Given the description of an element on the screen output the (x, y) to click on. 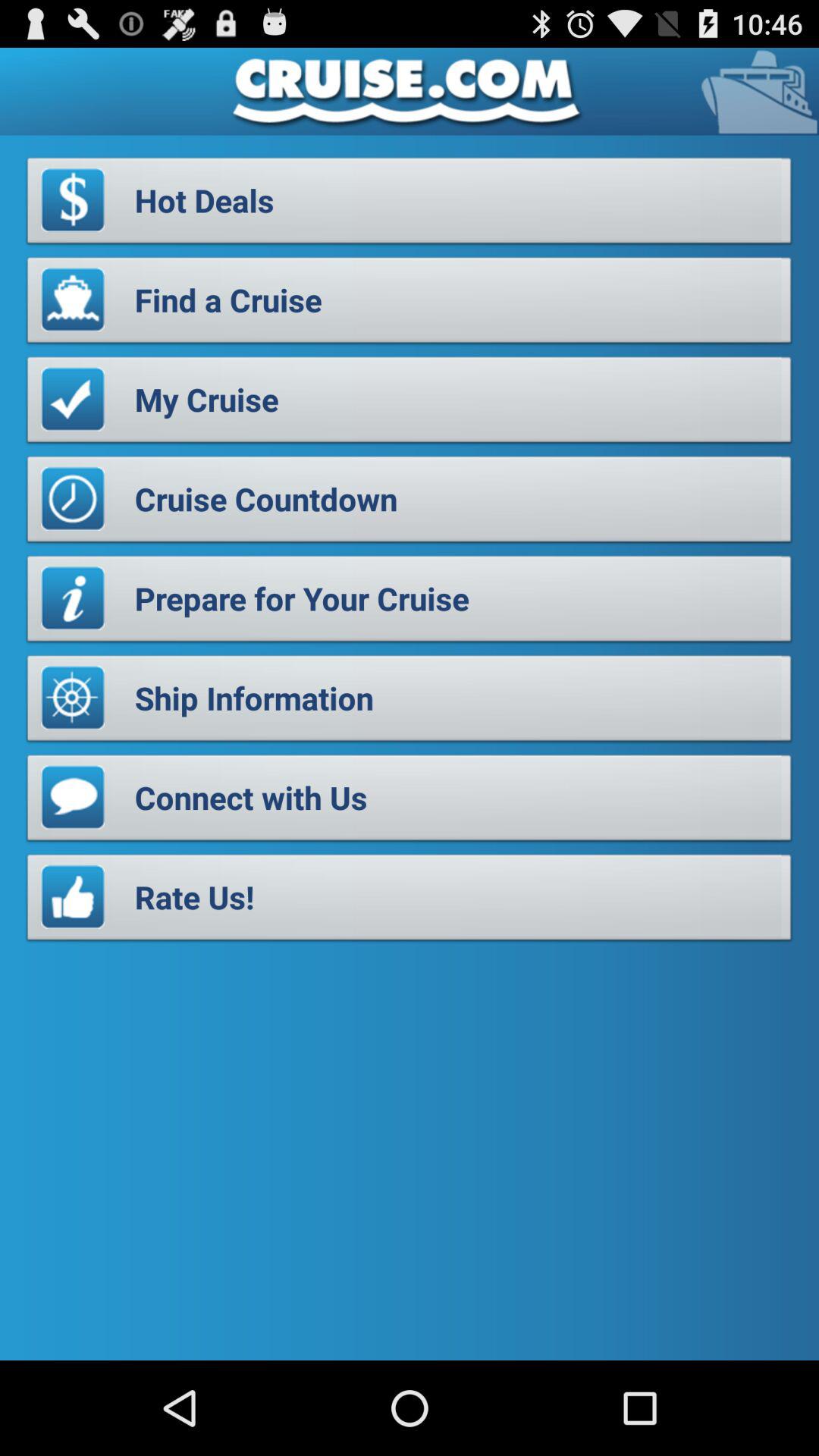
choose the button above the connect with us button (409, 702)
